Given the description of an element on the screen output the (x, y) to click on. 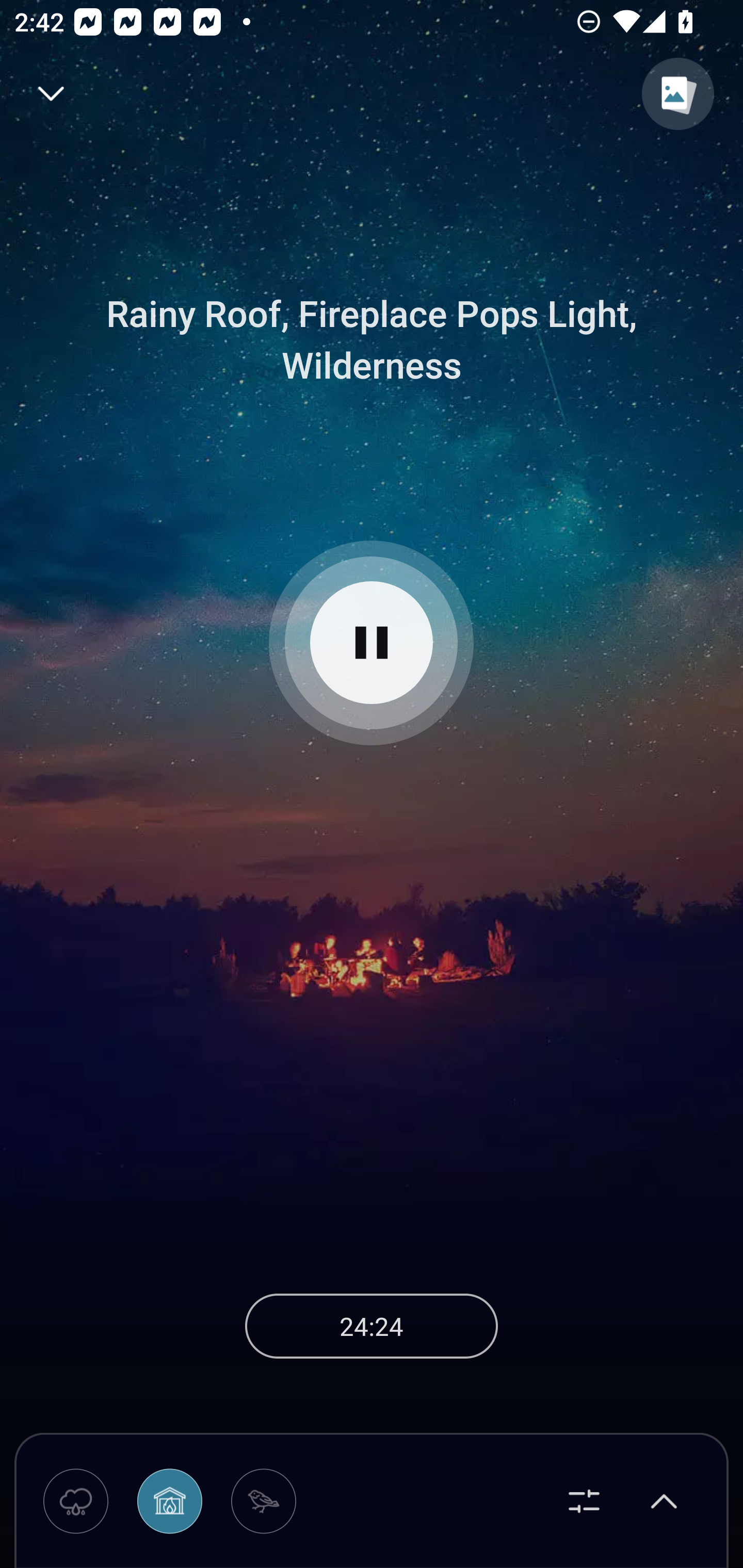
24:24 (371, 1325)
